Given the description of an element on the screen output the (x, y) to click on. 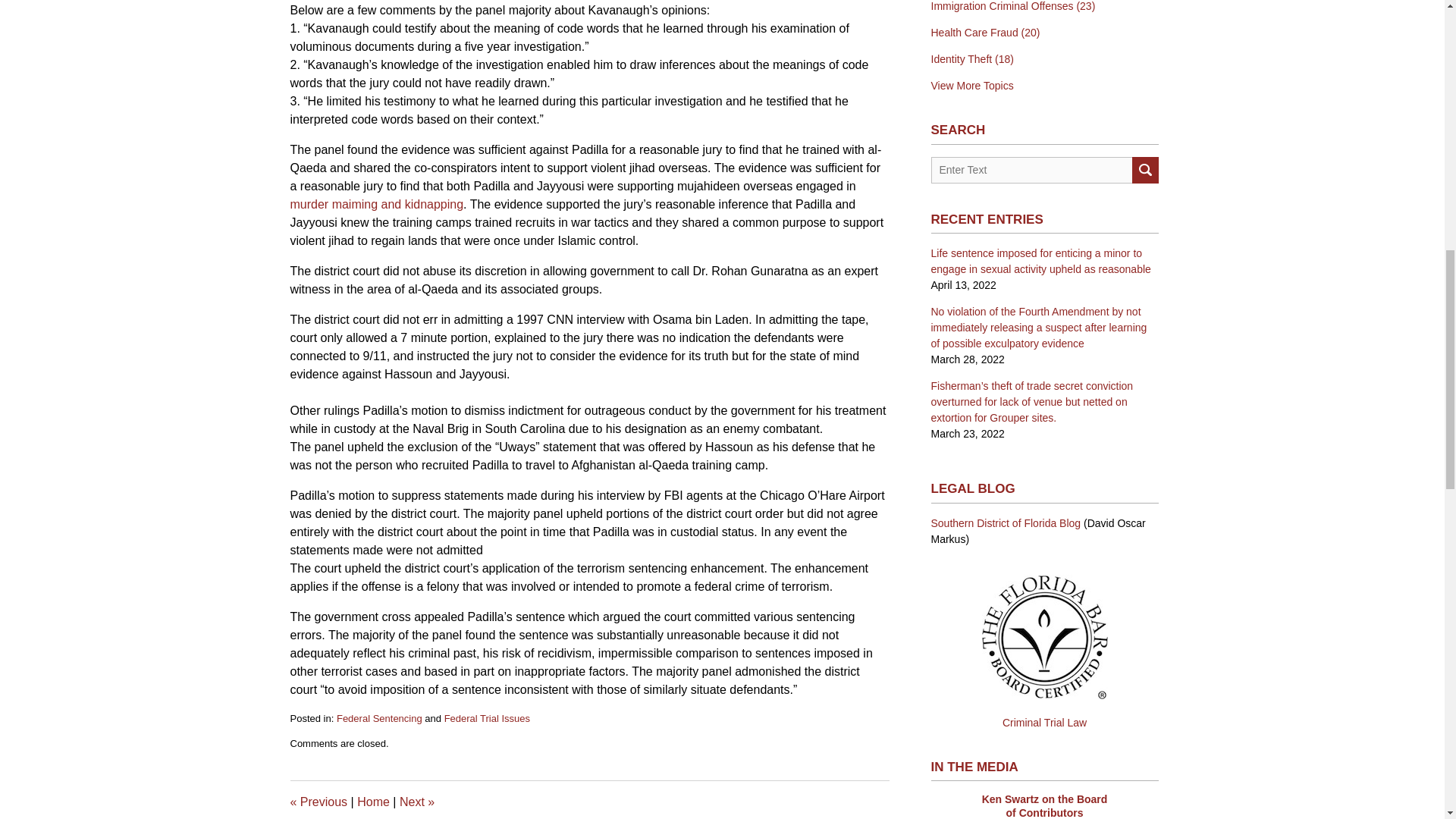
murder maiming and kidnapping (376, 204)
View all posts in Federal Trial Issues (486, 717)
View all posts in Federal Sentencing (379, 717)
Federal Trial Issues (486, 717)
Federal Sentencing (379, 717)
Home (373, 801)
